Given the description of an element on the screen output the (x, y) to click on. 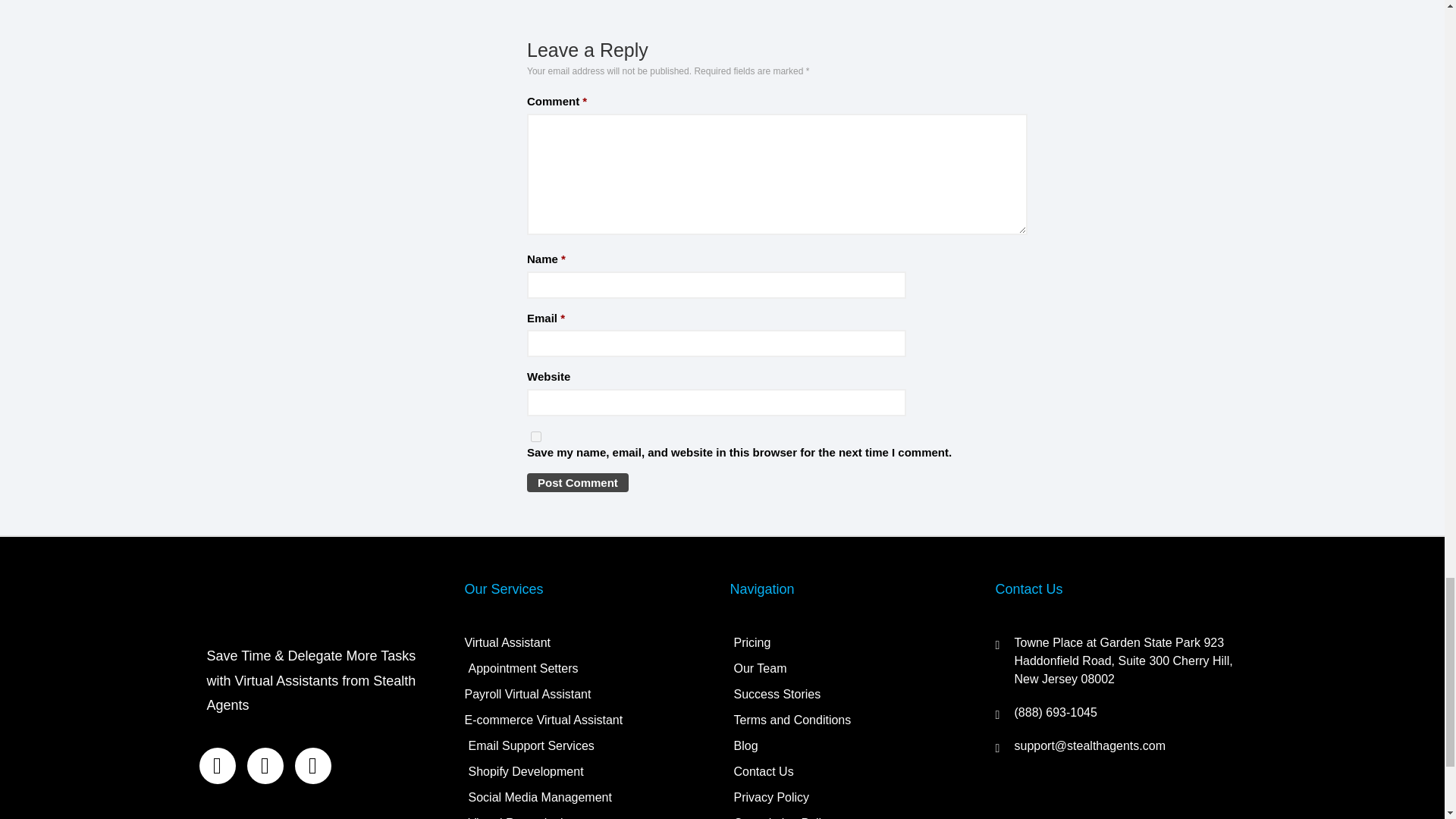
yes (536, 436)
Post Comment (577, 482)
